Given the description of an element on the screen output the (x, y) to click on. 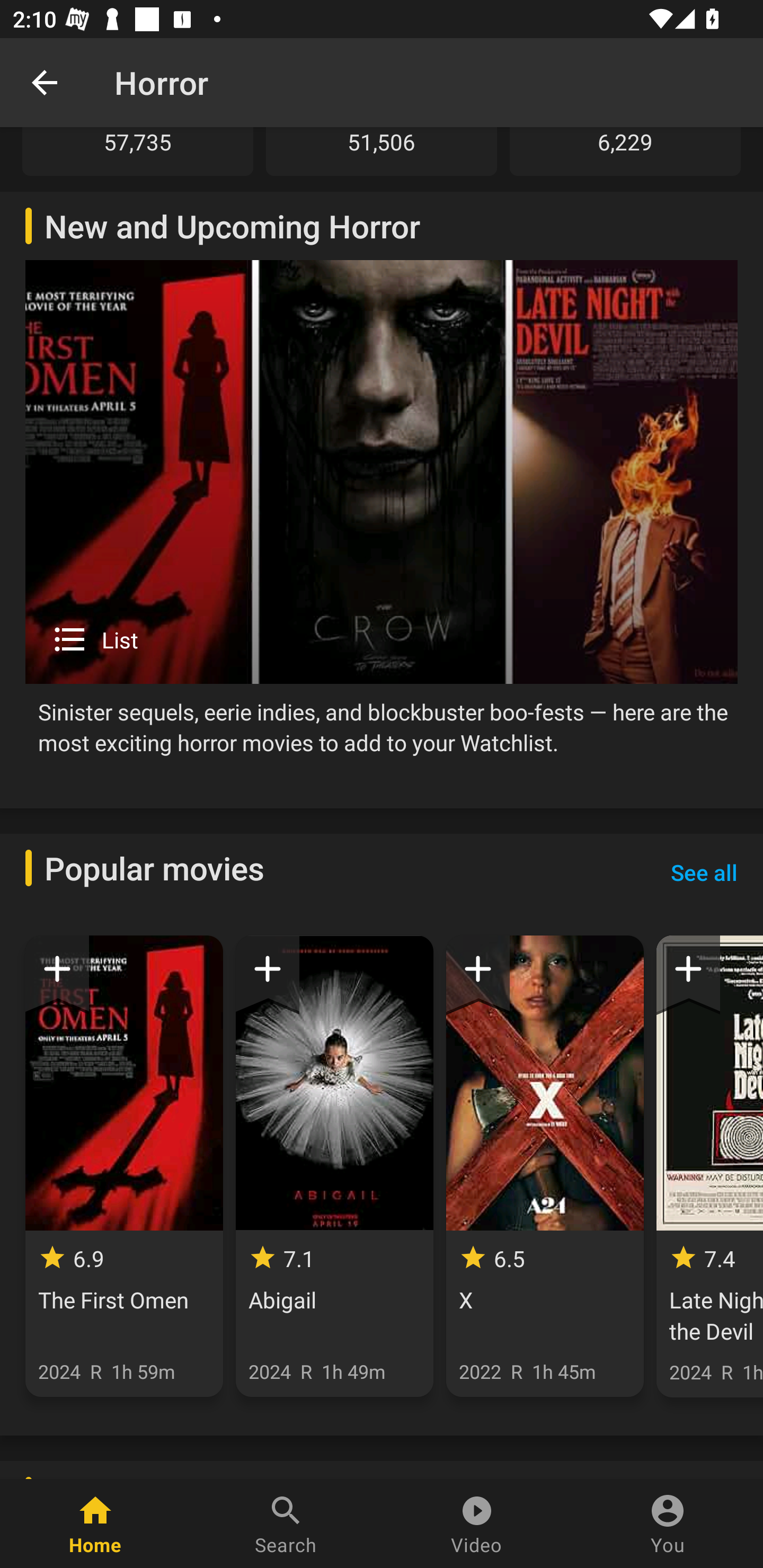
57,735 (137, 151)
51,506 (381, 151)
6,229 (624, 151)
See all See all Popular movies (703, 872)
6.9 The First Omen 2024  R  1h 59m (123, 1166)
7.1 Abigail 2024  R  1h 49m (334, 1166)
6.5 X 2022  R  1h 45m (544, 1166)
Search (285, 1523)
Video (476, 1523)
You (667, 1523)
